Given the description of an element on the screen output the (x, y) to click on. 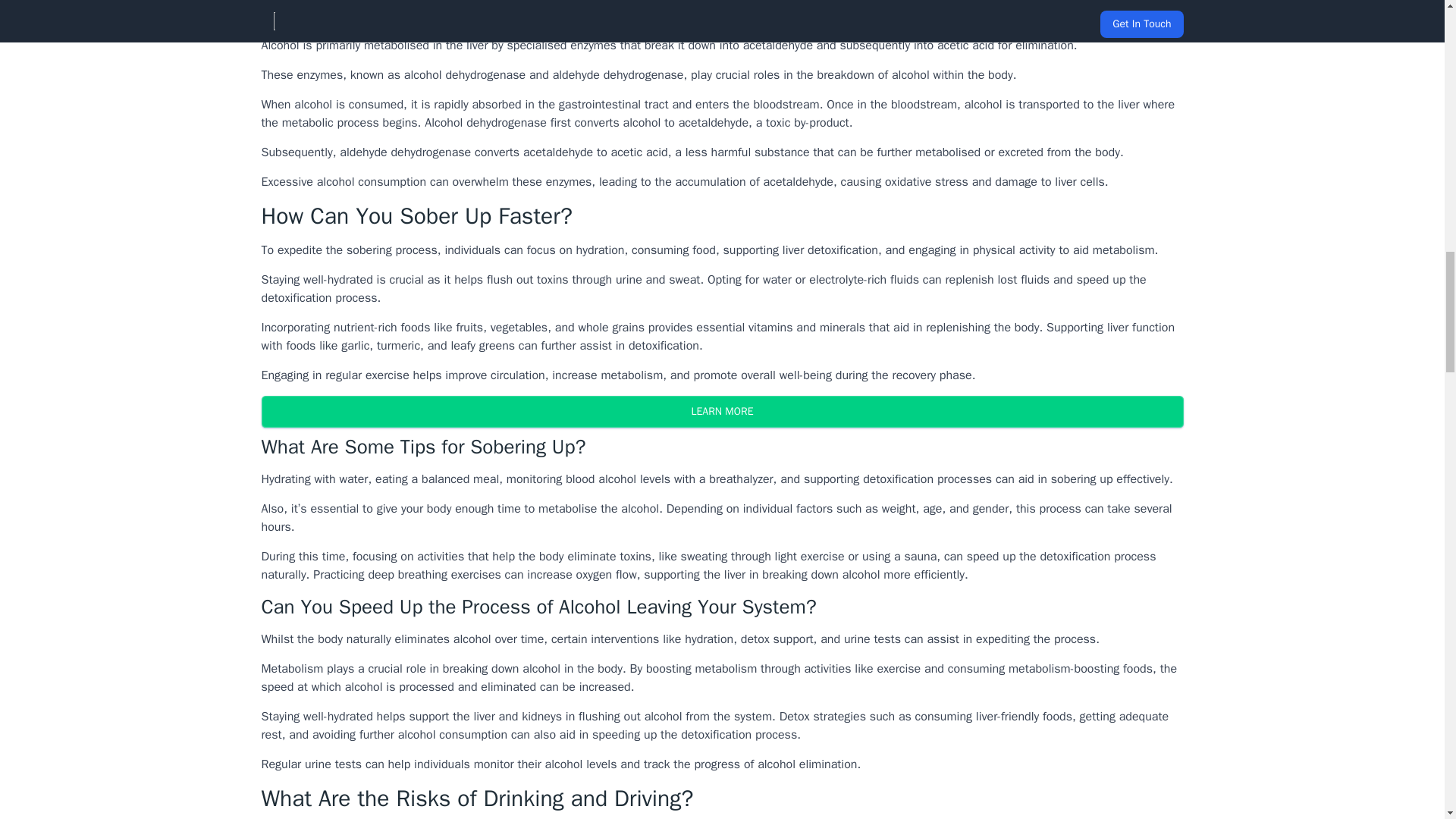
LEARN MORE (721, 411)
